Given the description of an element on the screen output the (x, y) to click on. 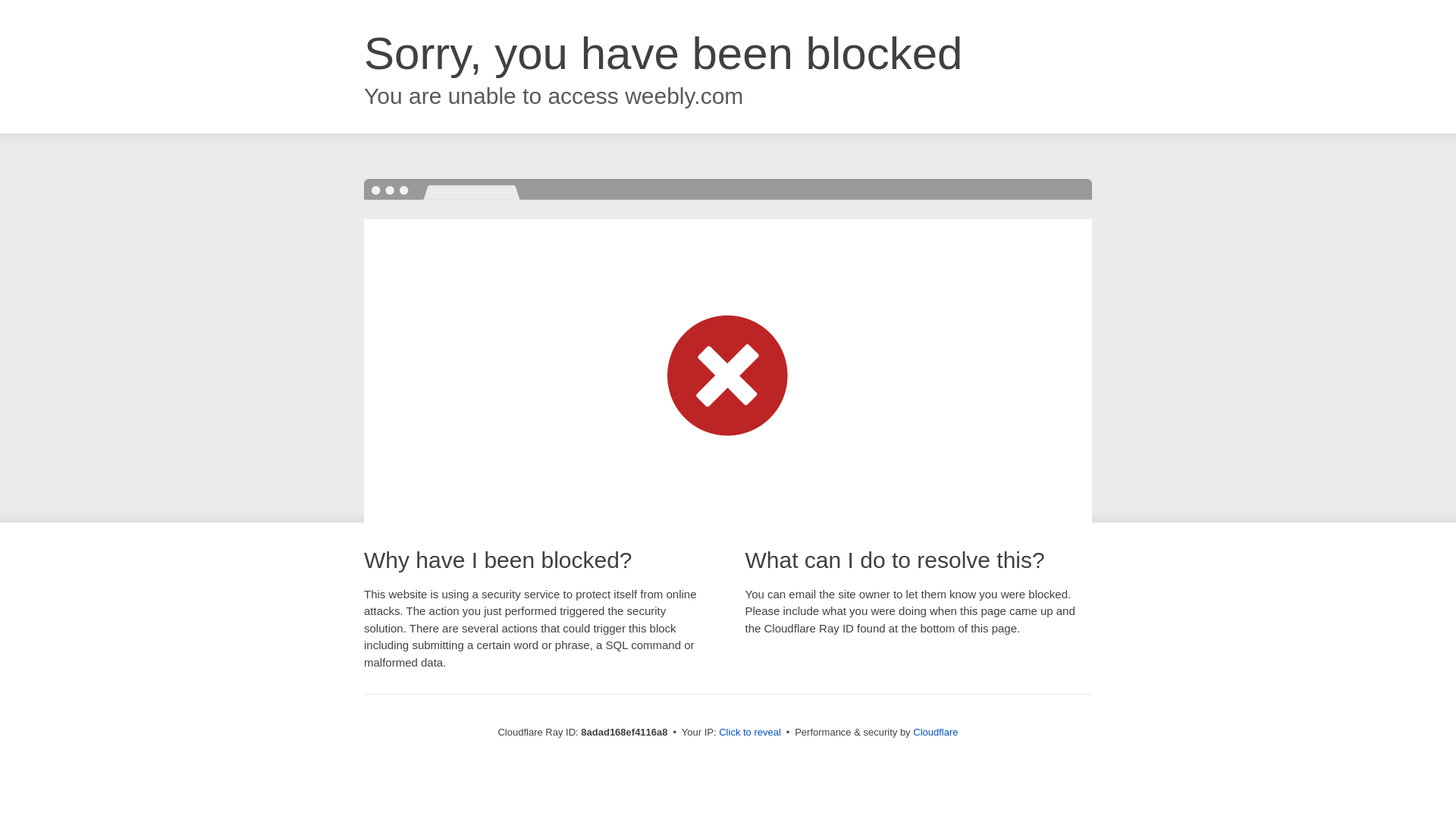
Cloudflare (935, 731)
Click to reveal (749, 732)
